Given the description of an element on the screen output the (x, y) to click on. 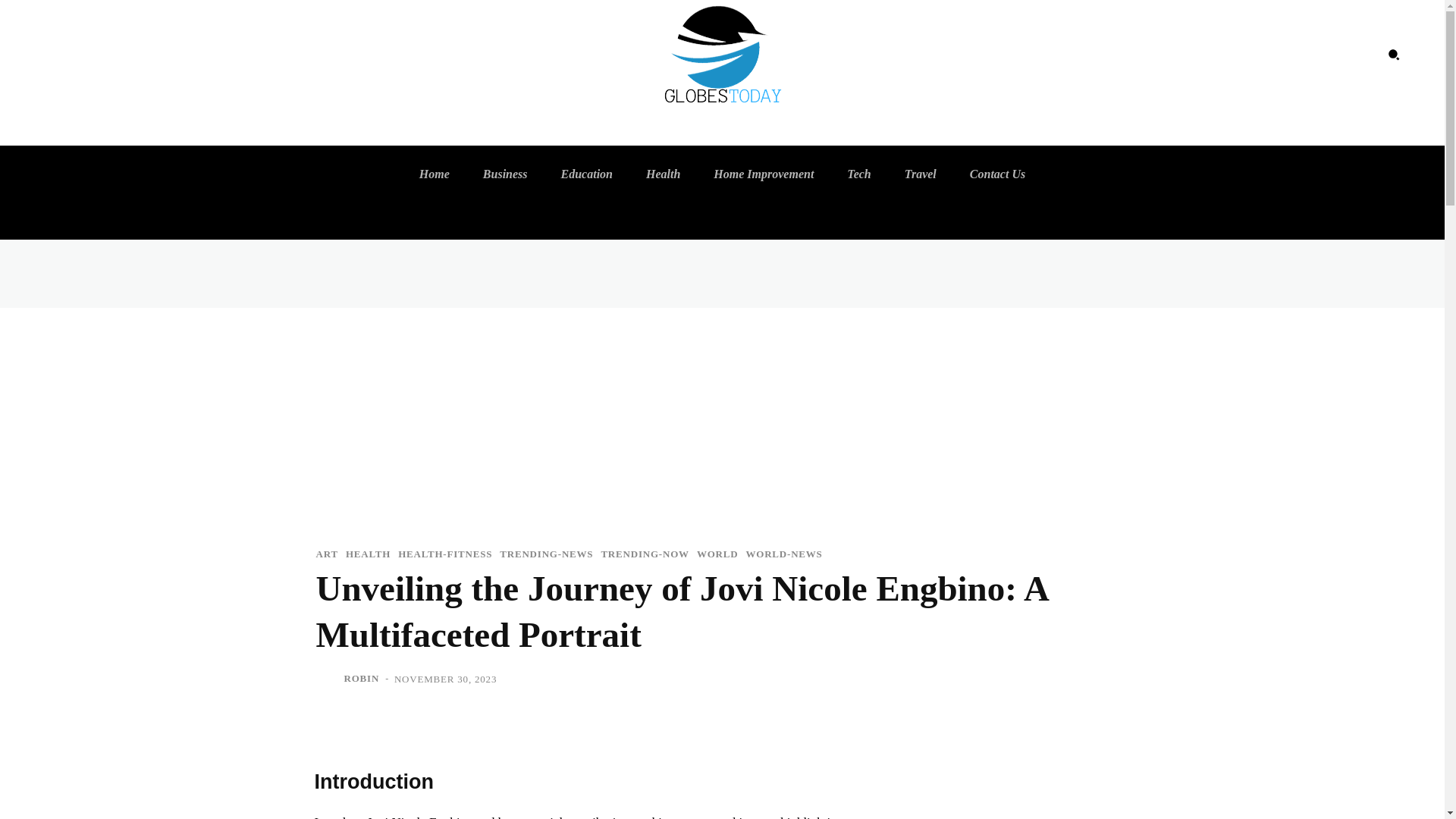
Business (504, 174)
HEALTH (368, 553)
Contact Us (997, 174)
TRENDING-NEWS (545, 553)
Home (434, 174)
Health (662, 174)
HEALTH-FITNESS (444, 553)
Robin (327, 678)
Home Improvement (763, 174)
TRENDING-NOW (643, 553)
